Given the description of an element on the screen output the (x, y) to click on. 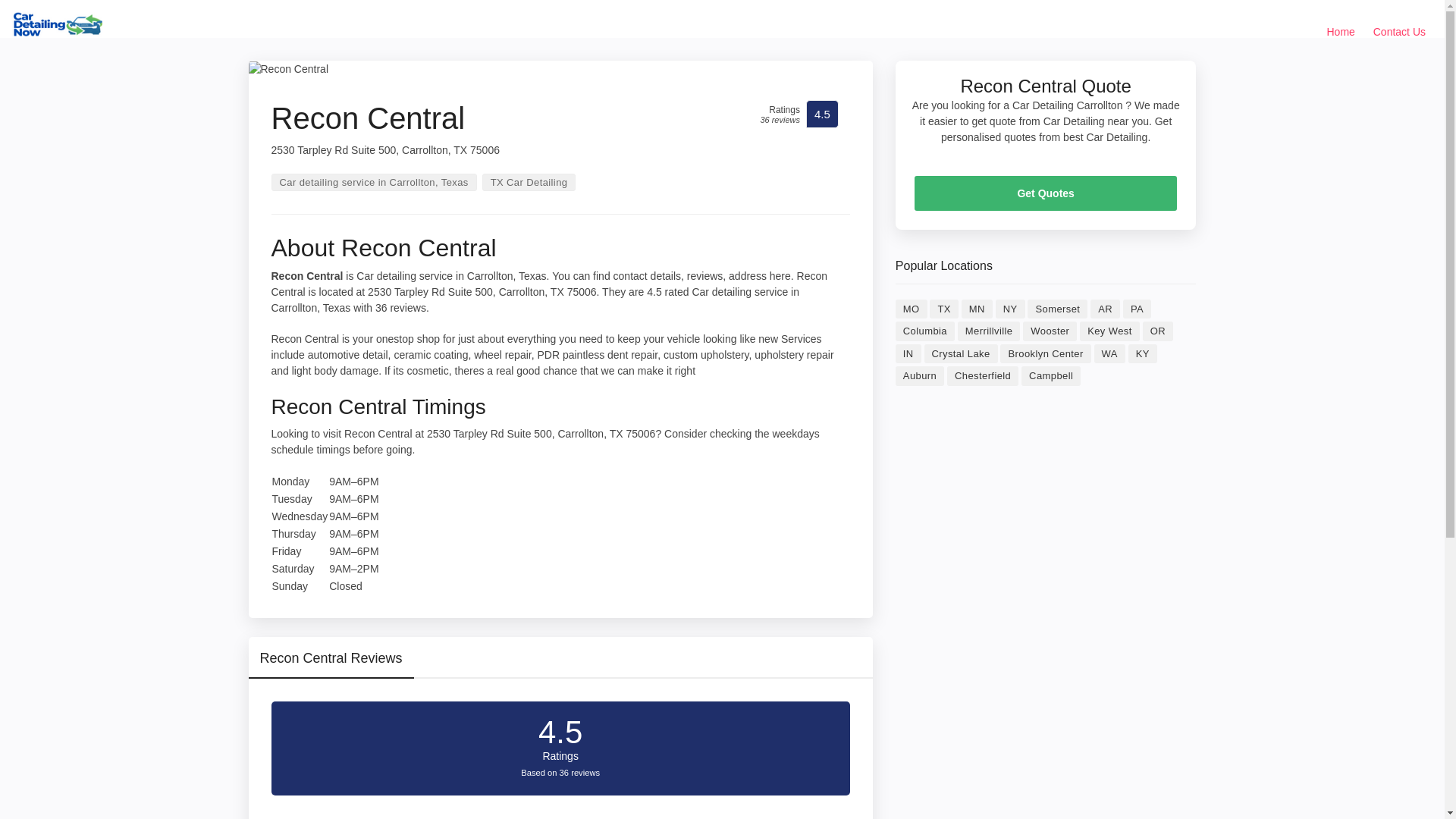
Home (1340, 31)
Somerset (1057, 309)
Best Car Detailing in Merrillville (989, 331)
KY (1142, 353)
Best Car Detailing in MN (976, 309)
Columbia (925, 331)
Get Quotes (1045, 193)
Car detailing service in Carrollton, Texas (373, 181)
Best Car Detailing in OR (1157, 331)
OR (1157, 331)
